Given the description of an element on the screen output the (x, y) to click on. 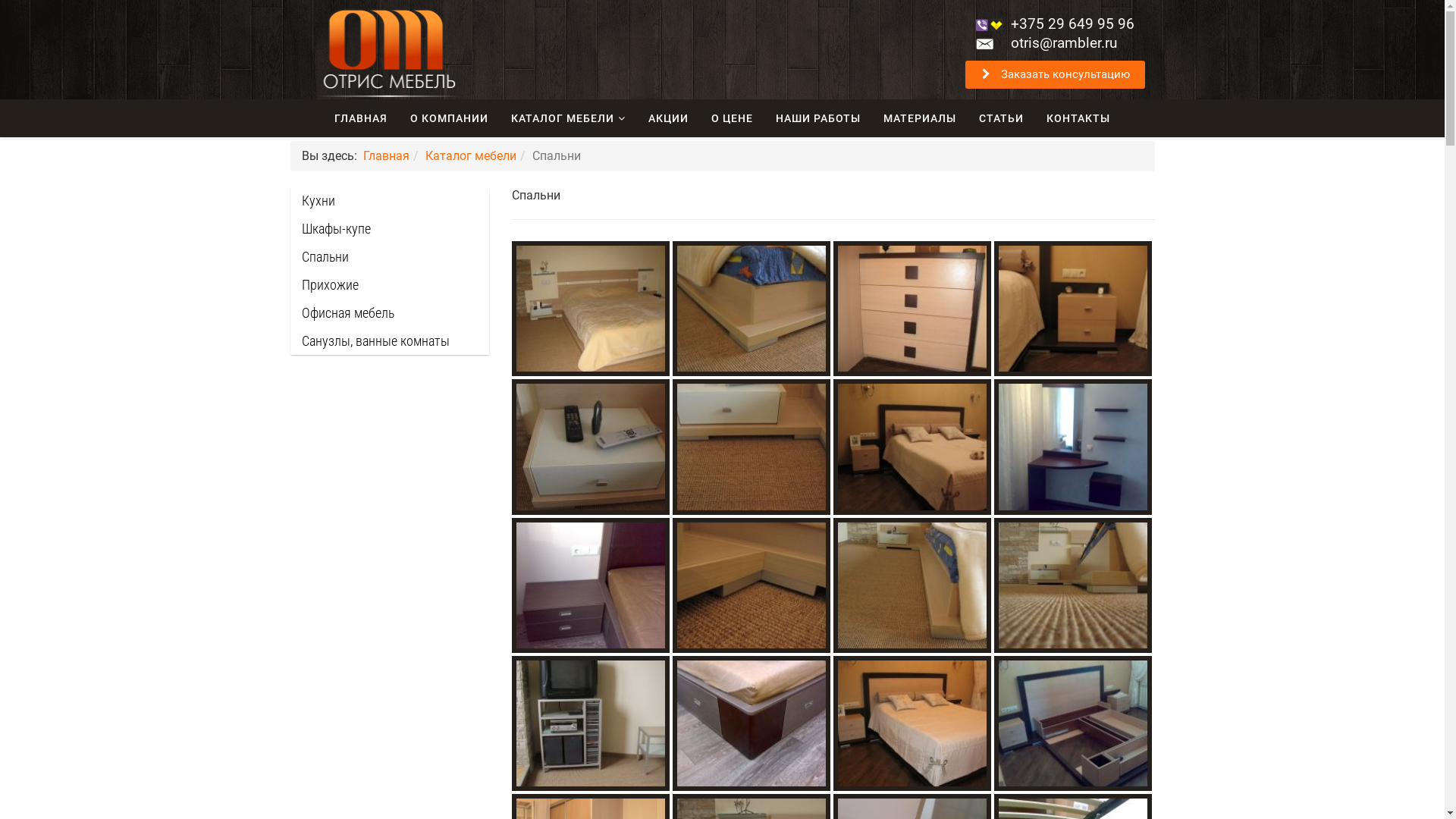
<b>Description</b><br />You can use HTML as you can see!
 Element type: hover (590, 584)
Title Element type: hover (590, 308)
<b>Description</b><br />You can use HTML as you can see!
 Element type: hover (590, 446)
<b>Description</b><br />You can use HTML as you can see!
 Element type: hover (590, 308)
Title Element type: hover (751, 446)
+375 29 649 95 96 Element type: text (1072, 23)
Title Element type: hover (1072, 723)
<b>Description</b><br />You can use HTML as you can see!
 Element type: hover (751, 446)
<b>Description</b><br />You can use HTML as you can see!
 Element type: hover (912, 584)
Title Element type: hover (751, 723)
Title Element type: hover (751, 585)
Title Element type: hover (911, 723)
<b>Description</b><br />You can use HTML as you can see!
 Element type: hover (751, 584)
<b>Description</b><br />You can use HTML as you can see!
 Element type: hover (751, 308)
<b>Description</b><br />You can use HTML as you can see!
 Element type: hover (751, 722)
otris@rambler.ru Element type: text (1063, 42)
Title Element type: hover (751, 308)
Title Element type: hover (911, 308)
<b>Description</b><br />You can use HTML as you can see!
 Element type: hover (1072, 446)
<b>Description</b><br />You can use HTML as you can see!
 Element type: hover (590, 722)
Title Element type: hover (1072, 585)
Title Element type: hover (590, 585)
Title Element type: hover (590, 723)
<b>Description</b><br />You can use HTML as you can see!
 Element type: hover (1072, 722)
Title Element type: hover (911, 585)
Title Element type: hover (911, 446)
Title Element type: hover (590, 446)
Title Element type: hover (1072, 308)
<b>Description</b><br />You can use HTML as you can see!
 Element type: hover (912, 722)
Title Element type: hover (1072, 446)
<b>Description</b><br />You can use HTML as you can see!
 Element type: hover (912, 446)
<b>Description</b><br />You can use HTML as you can see!
 Element type: hover (1072, 308)
<b>Description</b><br />You can use HTML as you can see!
 Element type: hover (1072, 584)
<b>Description</b><br />You can use HTML as you can see!
 Element type: hover (912, 308)
